Given the description of an element on the screen output the (x, y) to click on. 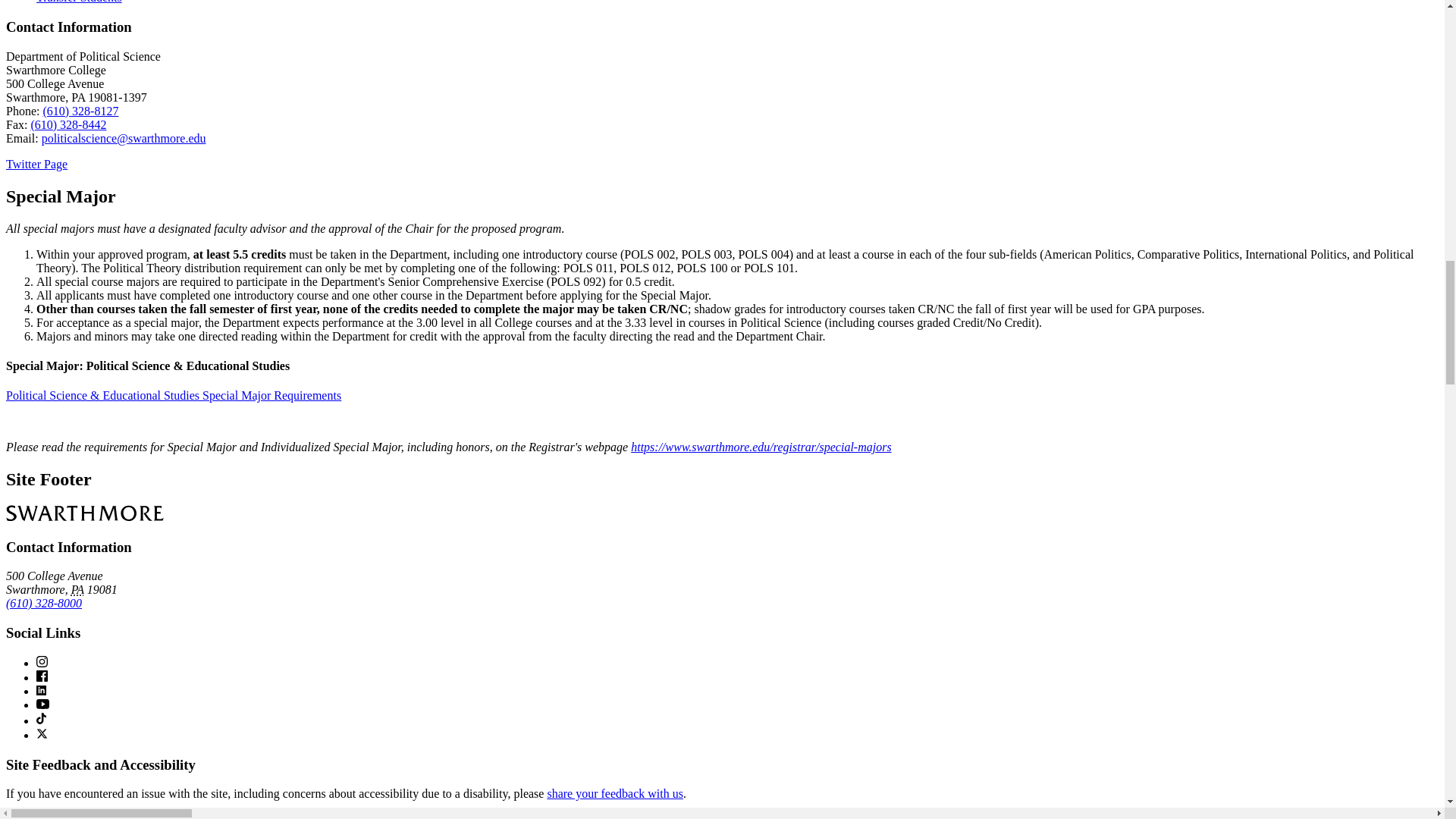
Instagram (42, 661)
Swarthmore College - Home (84, 513)
YouTube (42, 704)
Facebook (42, 675)
LinkedIn (41, 690)
